Given the description of an element on the screen output the (x, y) to click on. 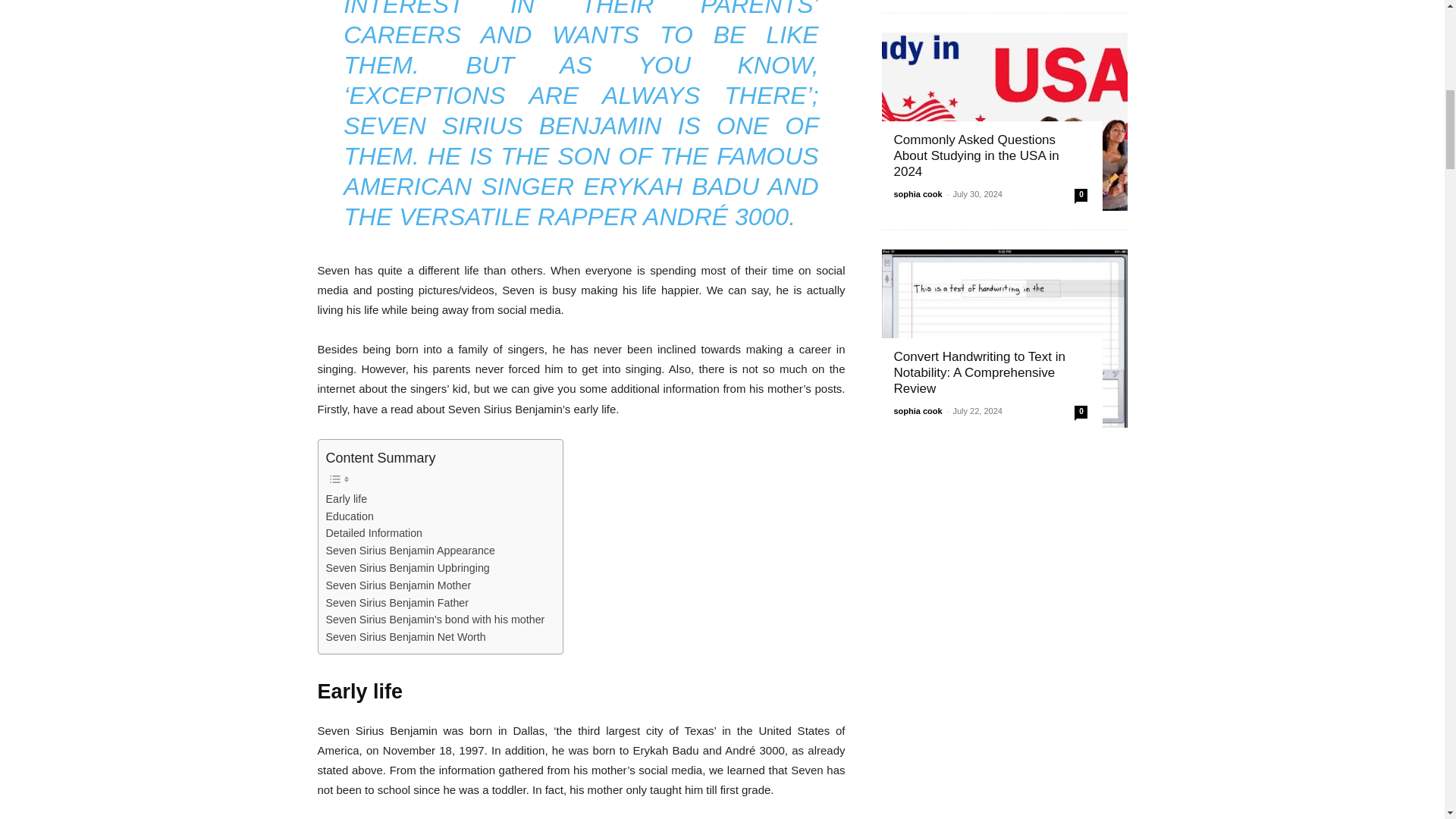
Seven Sirius Benjamin Appearance (410, 550)
Seven Sirius Benjamin Mother (398, 585)
Seven Sirius Benjamin Upbringing (407, 568)
Early life (347, 498)
Detailed Information (374, 533)
Seven Sirius Benjamin Father (397, 602)
Education (350, 516)
